Given the description of an element on the screen output the (x, y) to click on. 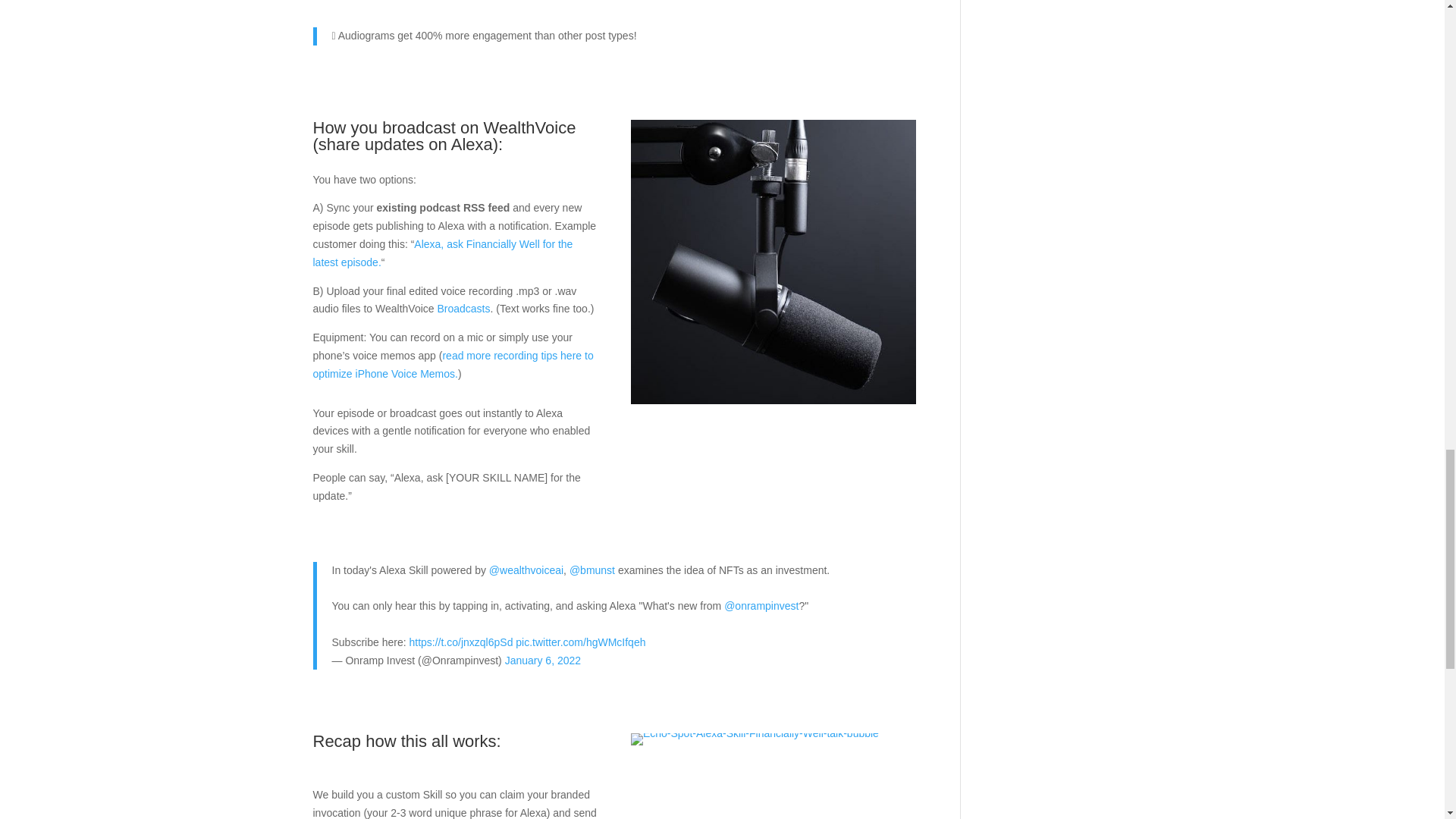
January 6, 2022 (542, 660)
ask for update- kevin and echo spot speaker (754, 739)
Broadcasts (462, 308)
shure-sm7b-microphone (772, 261)
Alexa, ask Financially Well for the latest episode. (442, 253)
